Given the description of an element on the screen output the (x, y) to click on. 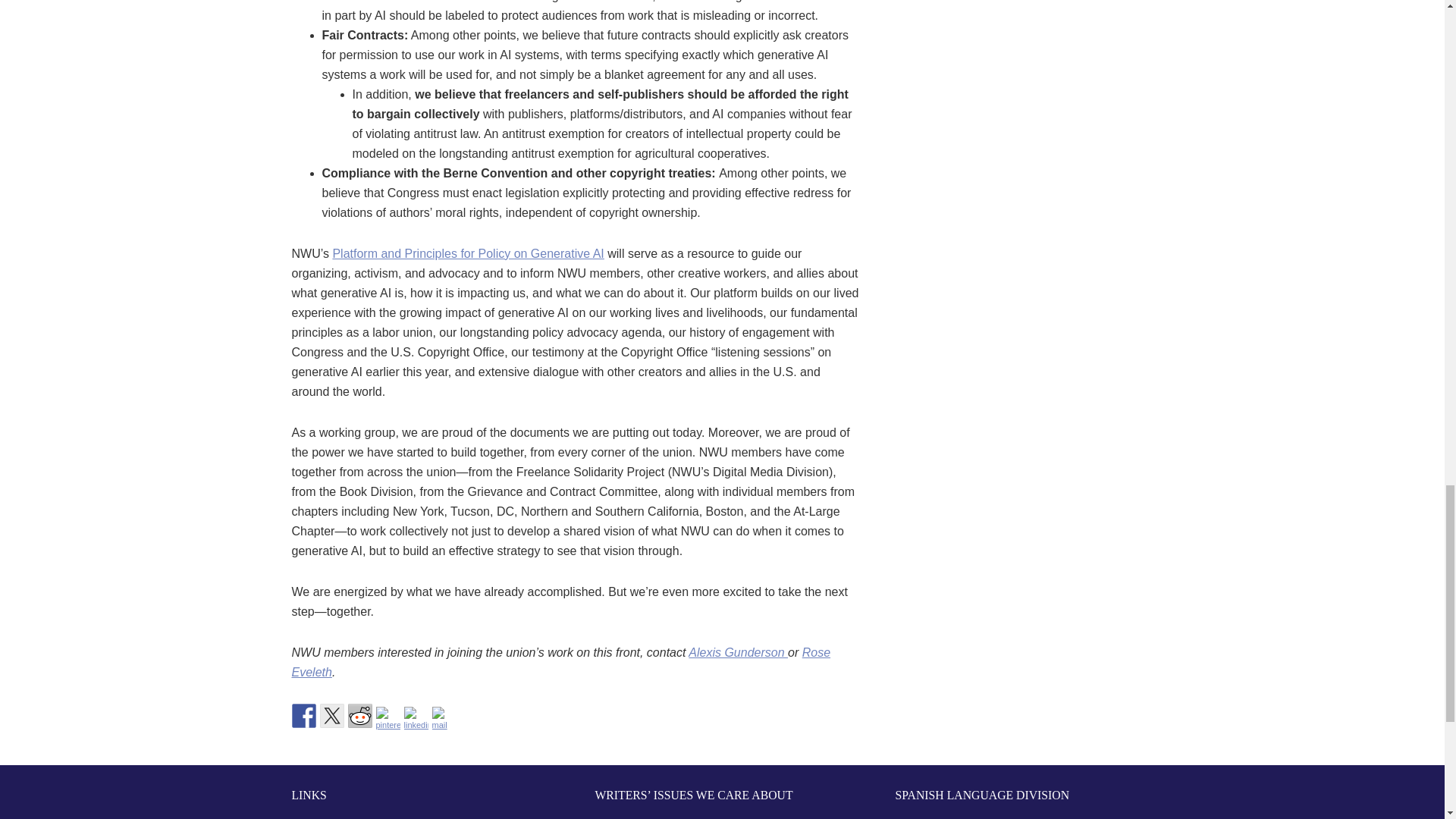
Share on Facebook (303, 715)
Pin it with Pinterest (387, 718)
Pin it with Pinterest (387, 719)
Share on Reddit (359, 715)
Share on Linkedin (415, 718)
Share on Linkedin (415, 719)
Share by email (444, 718)
Share on Twitter (331, 715)
